Given the description of an element on the screen output the (x, y) to click on. 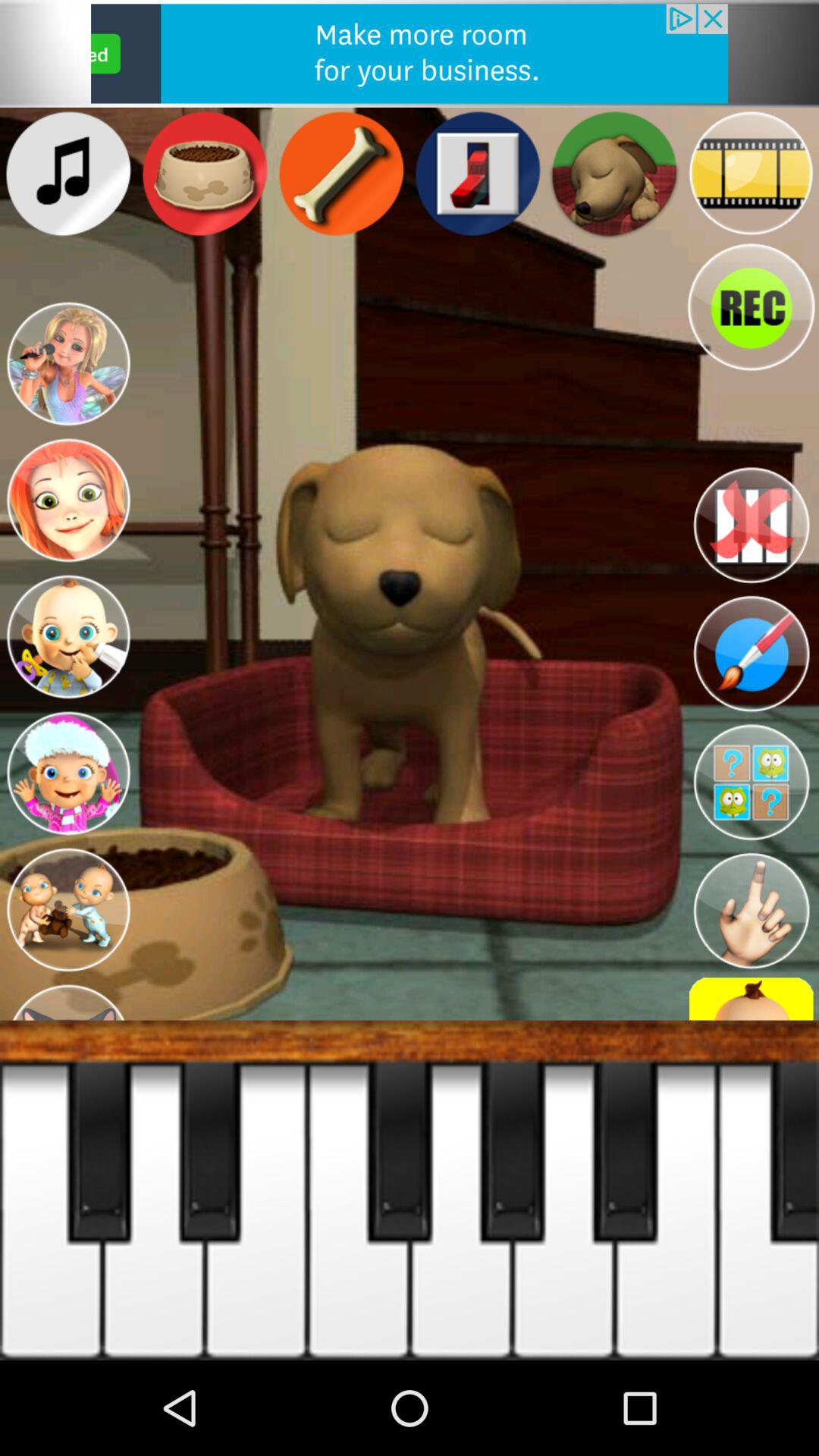
select the icon which is to the right side of music icon (204, 173)
click on the paint icon (751, 653)
click the fifth white tab from left (460, 1189)
select icon with text rec on a page (751, 307)
